Given the description of an element on the screen output the (x, y) to click on. 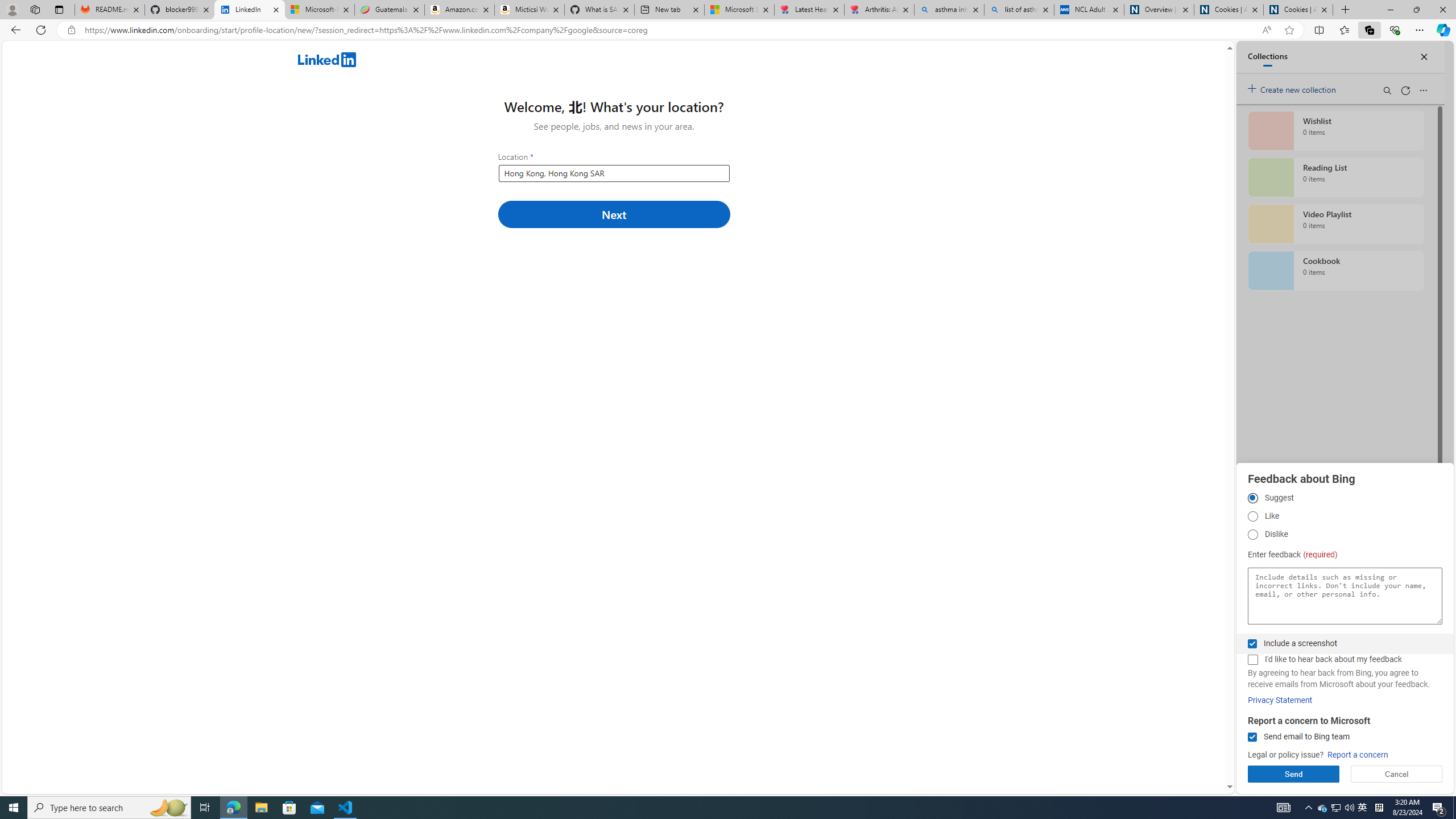
I'd like to hear back about my feedback (1252, 659)
Send email to Bing team (1251, 737)
